Given the description of an element on the screen output the (x, y) to click on. 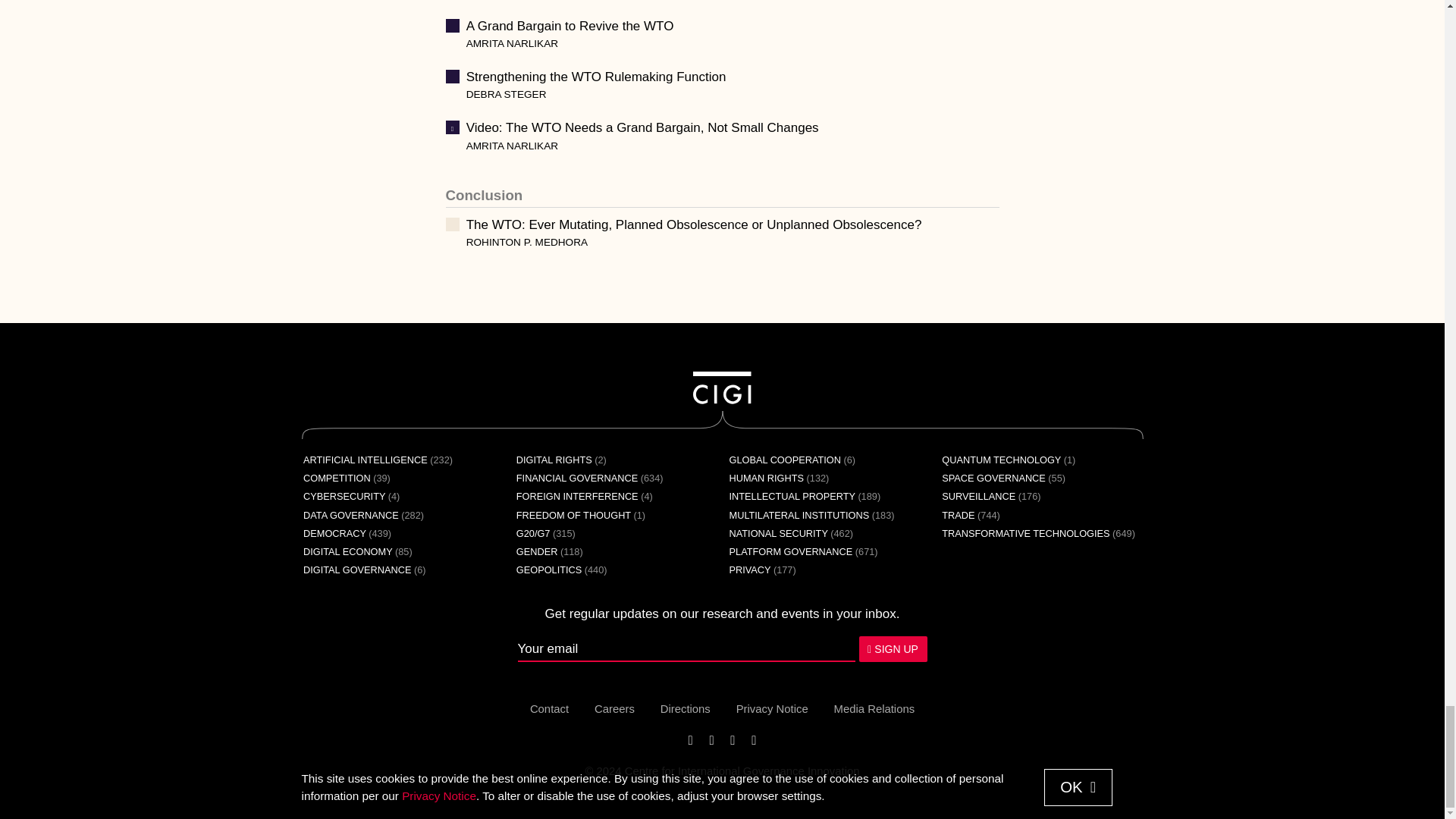
Newsletter Sign Up (721, 648)
